Given the description of an element on the screen output the (x, y) to click on. 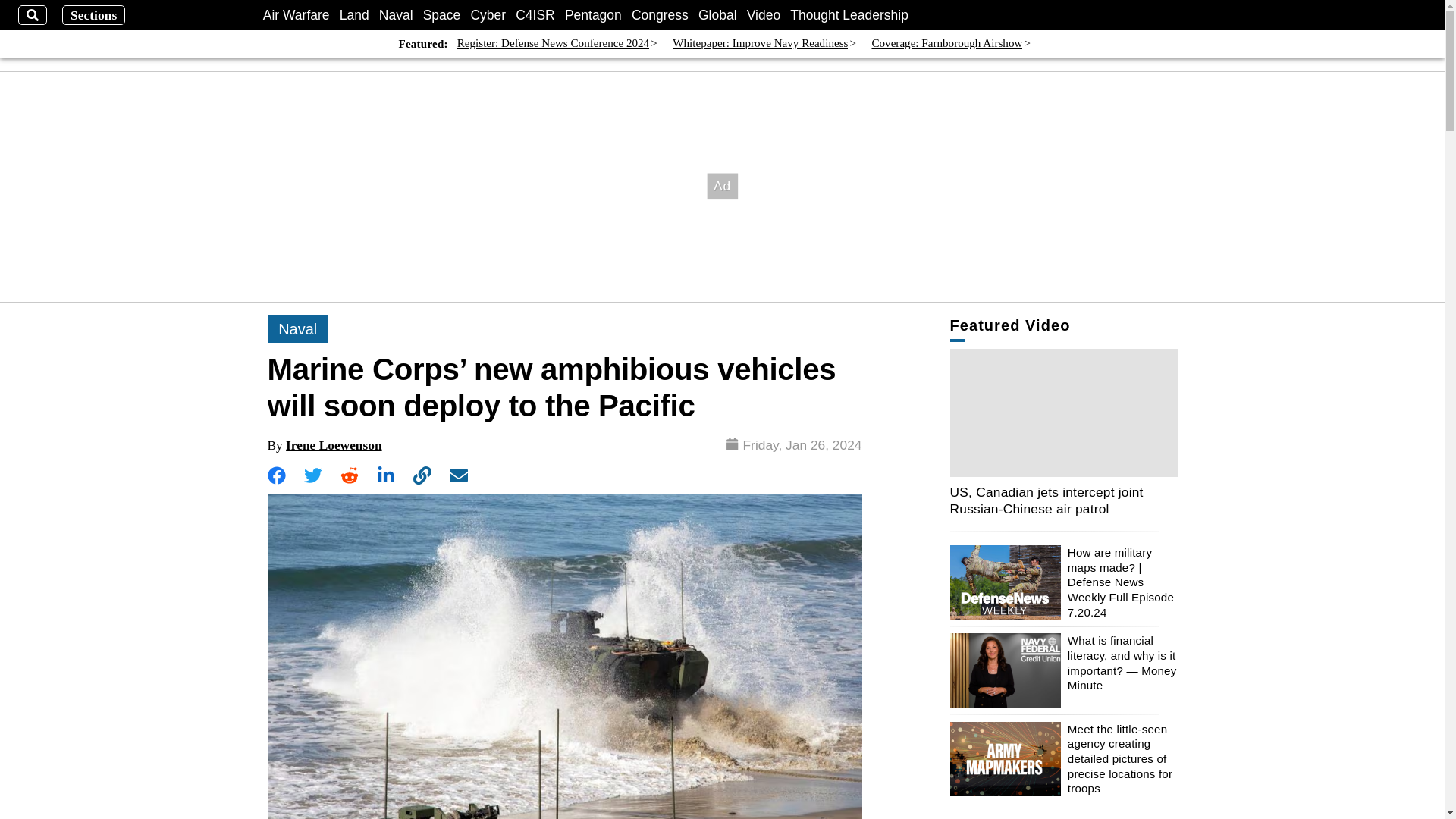
Congress (659, 14)
Sections (93, 14)
Land (354, 14)
Pentagon (592, 14)
Global (717, 14)
Video (763, 14)
Space (442, 14)
Air Warfare (296, 14)
Thought Leadership (849, 14)
Naval (395, 14)
